Given the description of an element on the screen output the (x, y) to click on. 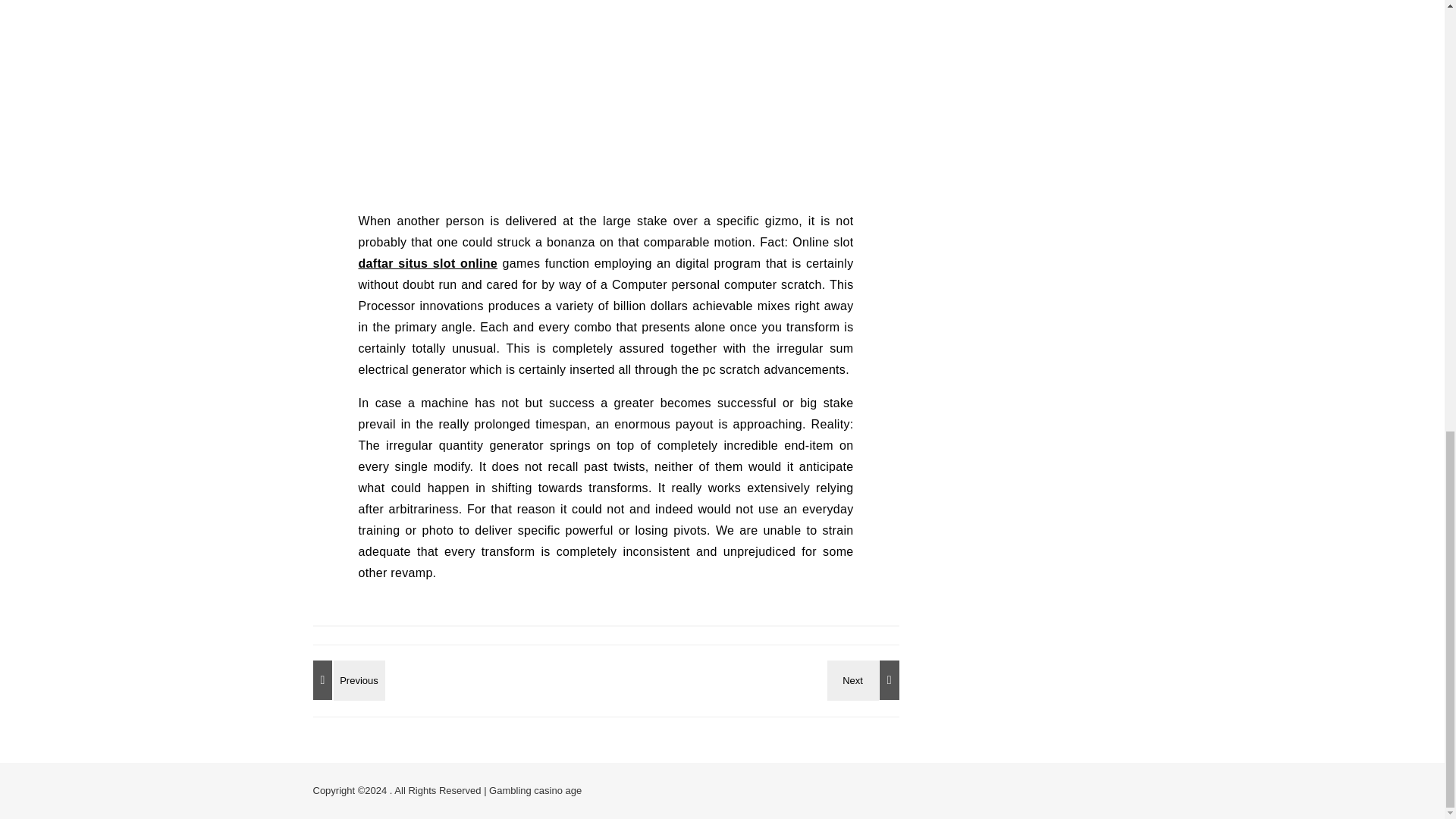
daftar situs slot online (427, 263)
The Best Way to be a part of an Internet casino gambling (865, 680)
